Given the description of an element on the screen output the (x, y) to click on. 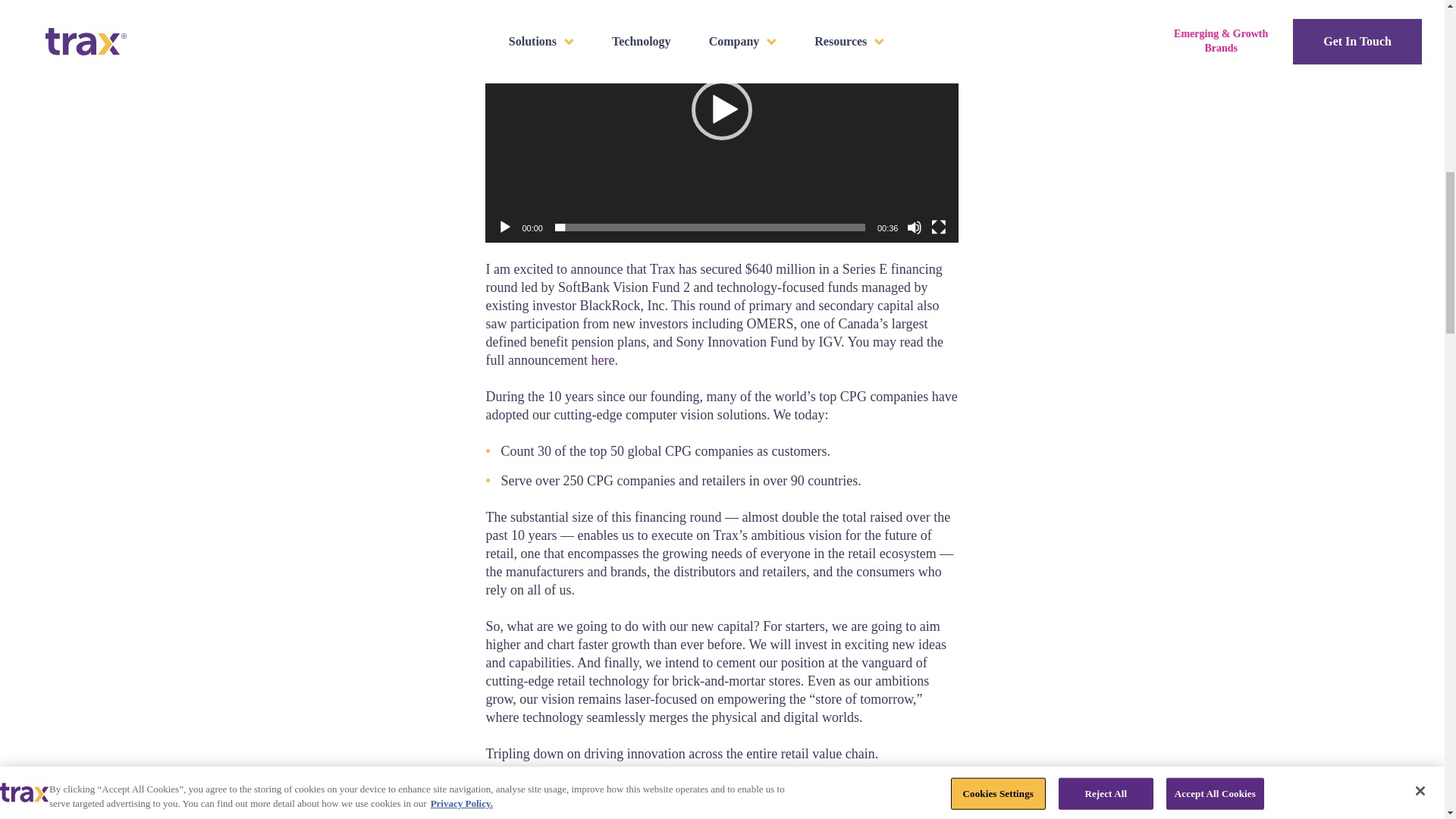
here (602, 359)
Fullscreen (938, 227)
Play (504, 227)
Mute (914, 227)
